Given the description of an element on the screen output the (x, y) to click on. 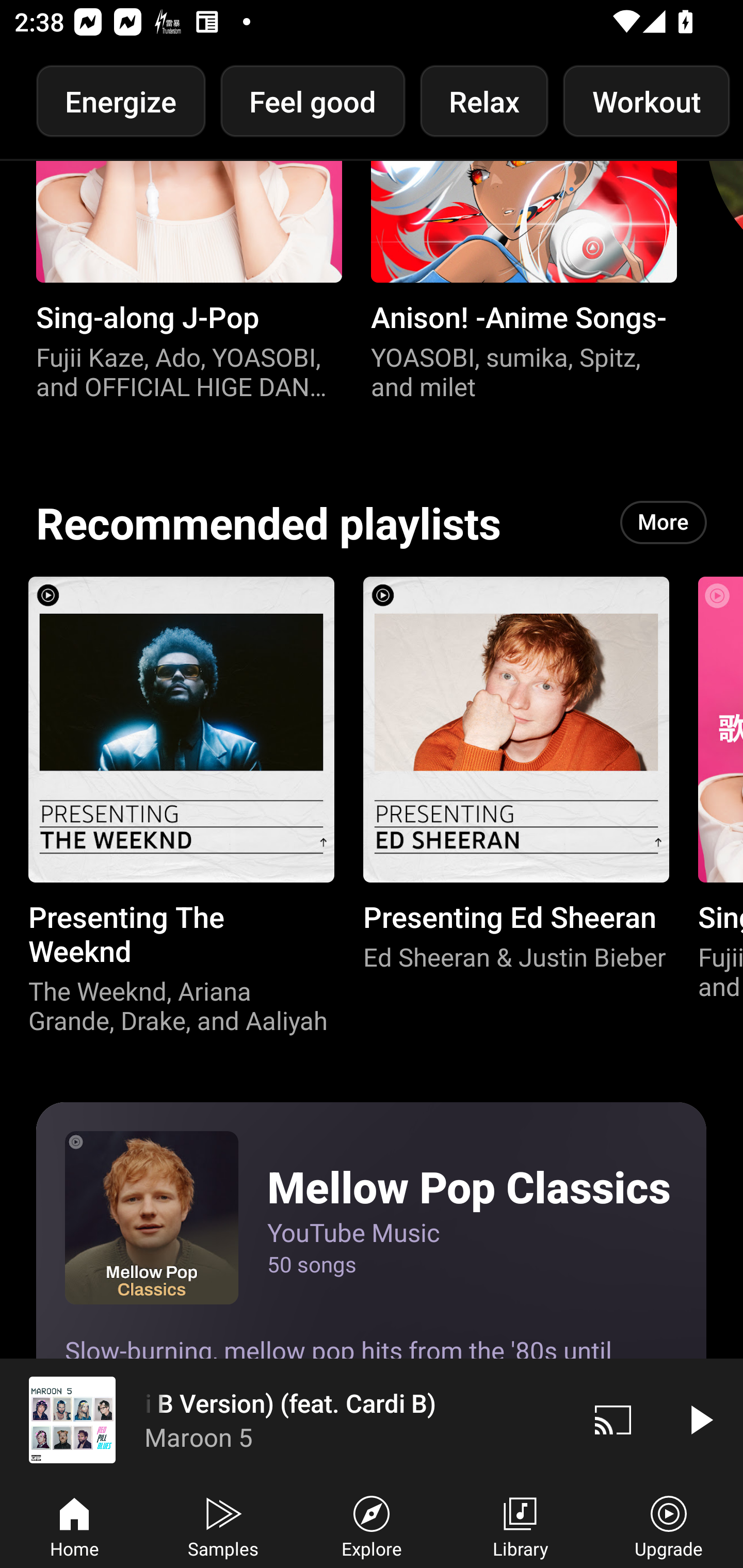
Cast. Disconnected (612, 1419)
Play video (699, 1419)
Home (74, 1524)
Samples (222, 1524)
Explore (371, 1524)
Library (519, 1524)
Upgrade (668, 1524)
